Given the description of an element on the screen output the (x, y) to click on. 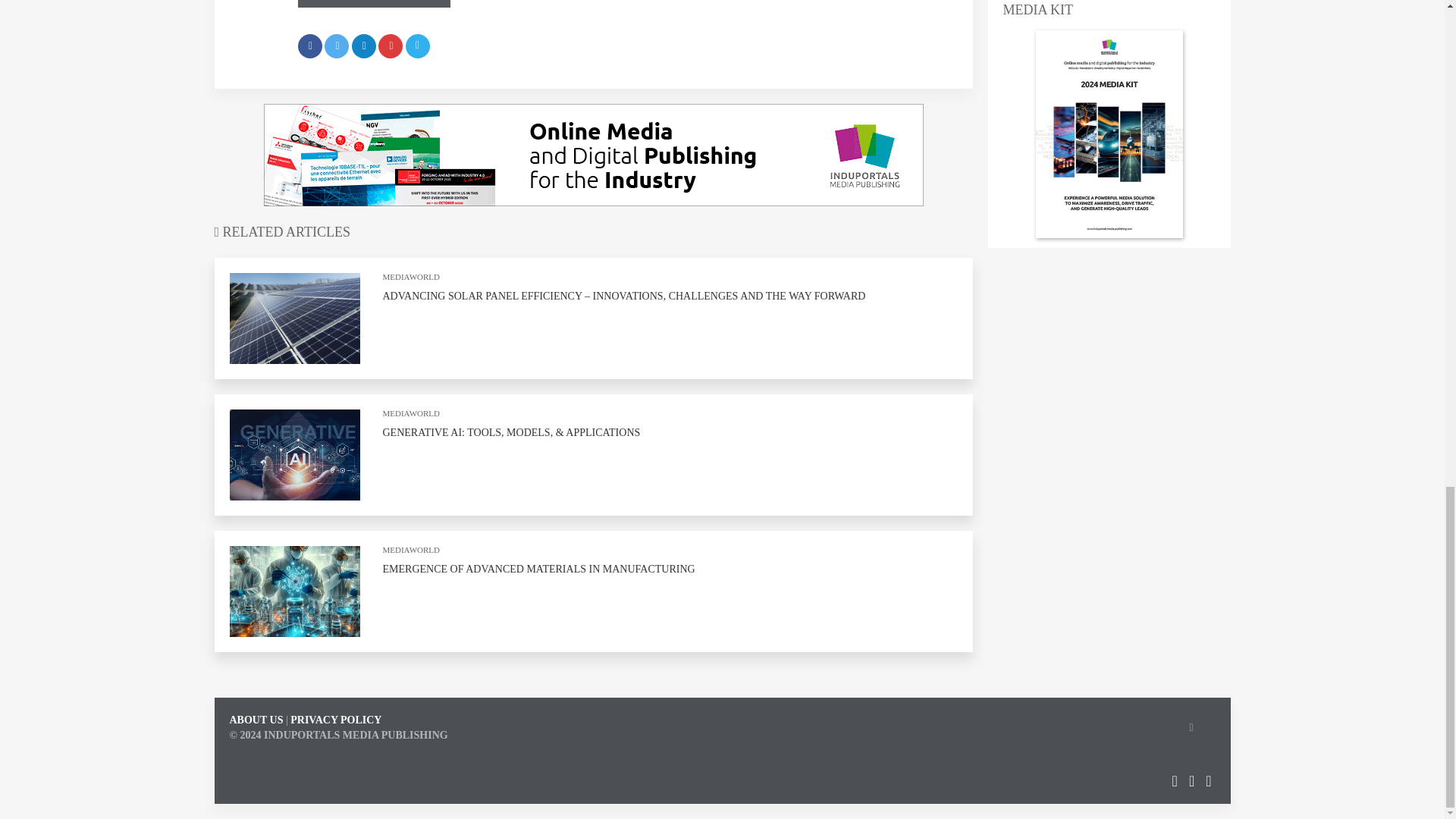
Share on Facebook (309, 46)
Share on Twitter (336, 46)
Share on Pinterest (390, 46)
Share on LinkedIn (363, 46)
